Given the description of an element on the screen output the (x, y) to click on. 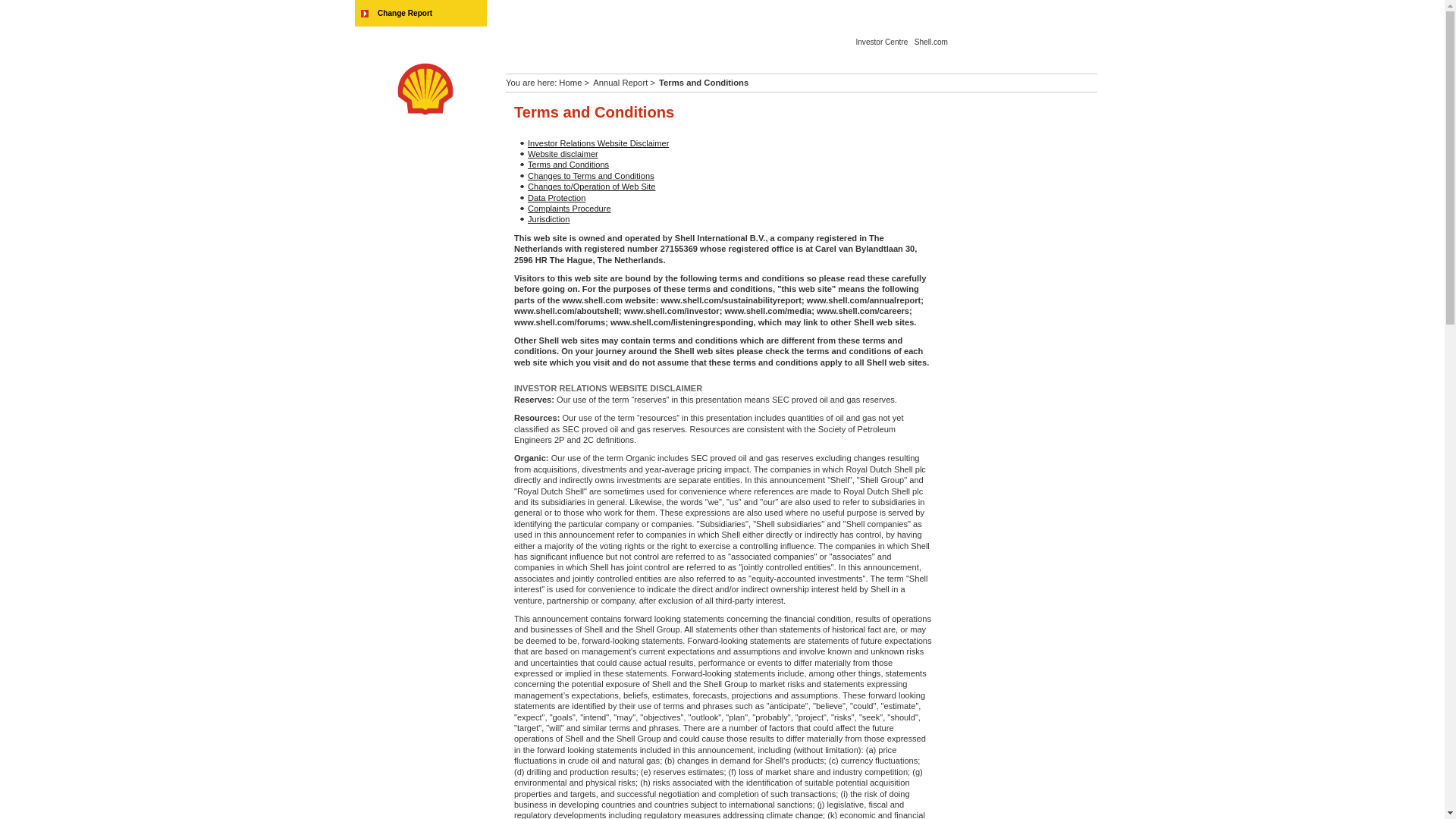
Data Protection (556, 197)
Complaints Procedure (569, 207)
Annual Report (619, 81)
INVESTOR RELATIONS WEBSITE DISCLAIMER (607, 388)
Investor Centre (881, 41)
Investor Relations Website Disclaimer (597, 143)
Change Report (395, 20)
Jurisdiction (548, 218)
Terms and Conditions (567, 163)
Shell.com (930, 41)
Home (569, 81)
Changes to Terms and Conditions (590, 175)
Website disclaimer (562, 153)
